Given the description of an element on the screen output the (x, y) to click on. 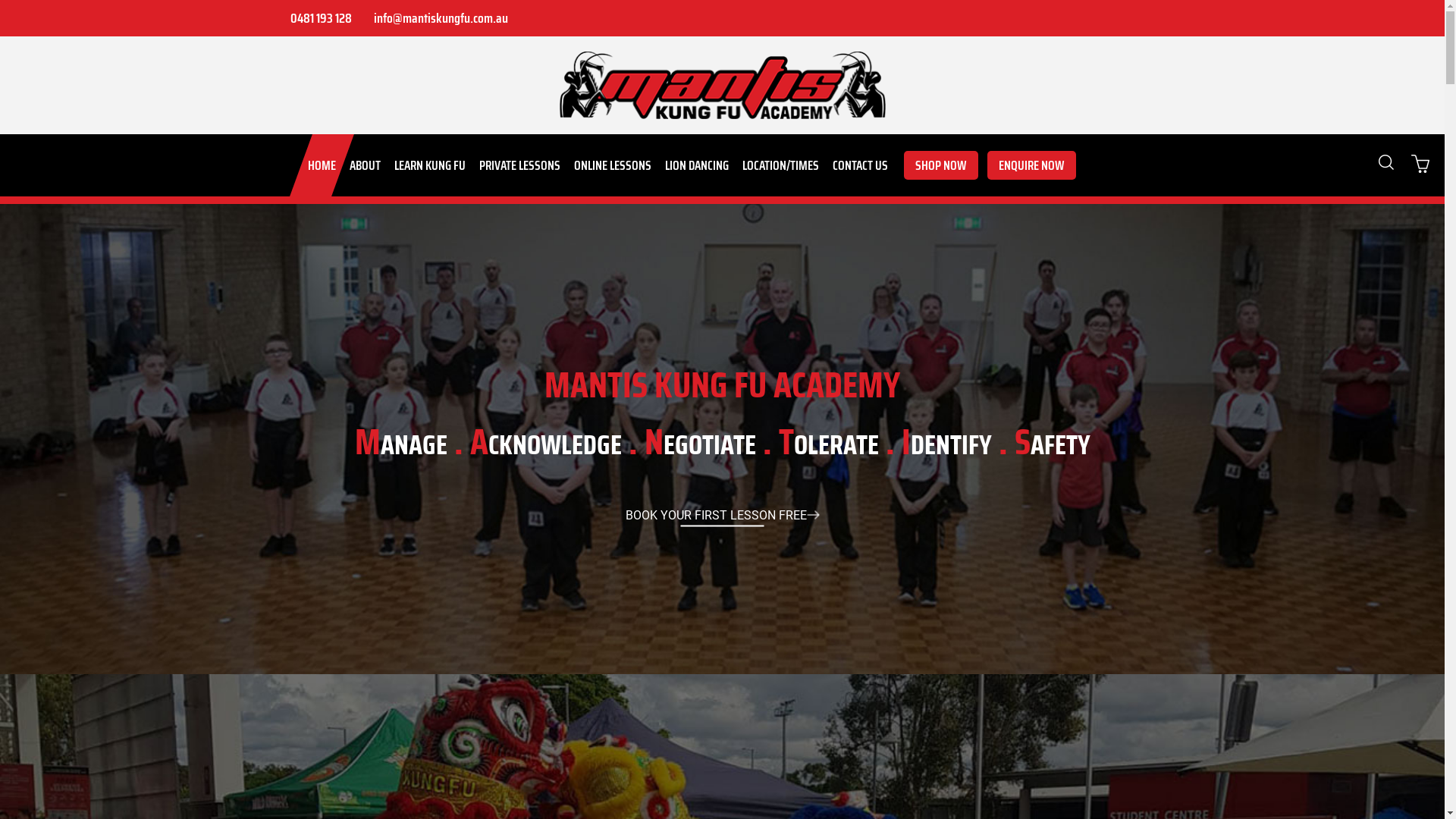
LOCATION/TIMES Element type: text (780, 165)
info@mantiskungfu.com.au Element type: text (439, 17)
CONTACT US Element type: text (859, 165)
BOOK YOUR FIRST LESSON FREE Element type: text (722, 515)
PRIVATE LESSONS Element type: text (518, 165)
LION DANCING Element type: text (696, 165)
Mantis Kung Fu Academy Element type: hover (722, 85)
SHOP NOW Element type: text (940, 164)
HOME Element type: text (321, 165)
0481 193 128 Element type: text (318, 17)
ENQUIRE NOW Element type: text (1031, 164)
ABOUT Element type: text (364, 165)
LEARN KUNG FU Element type: text (428, 165)
ONLINE LESSONS Element type: text (612, 165)
